Given the description of an element on the screen output the (x, y) to click on. 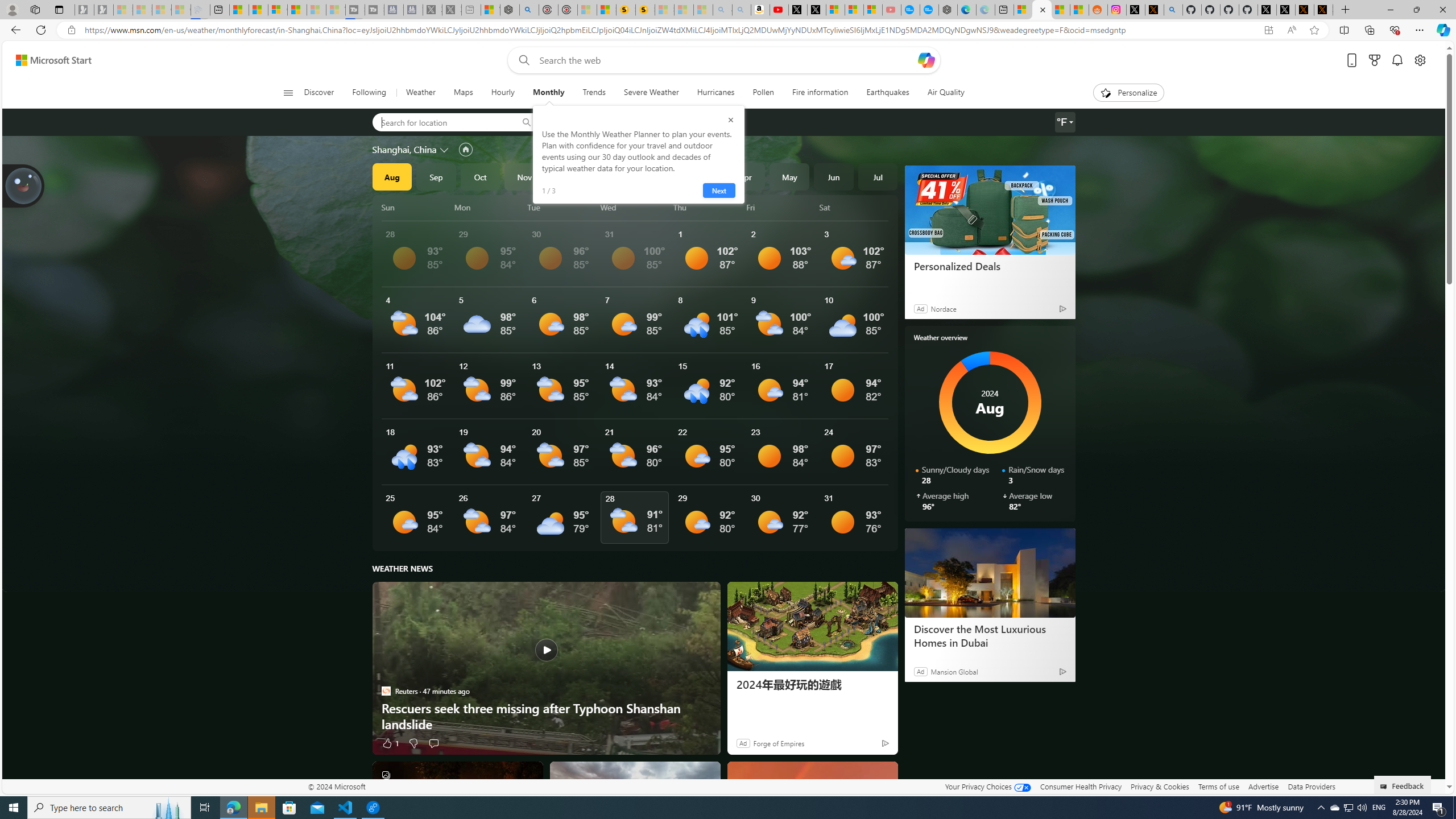
Nov (523, 176)
Sun (416, 207)
Gloom - YouTube - Sleeping (891, 9)
Aberdeen (576, 121)
Hurricanes (716, 92)
Pollen (763, 92)
poe - Search (529, 9)
Advertise (1263, 785)
